Given the description of an element on the screen output the (x, y) to click on. 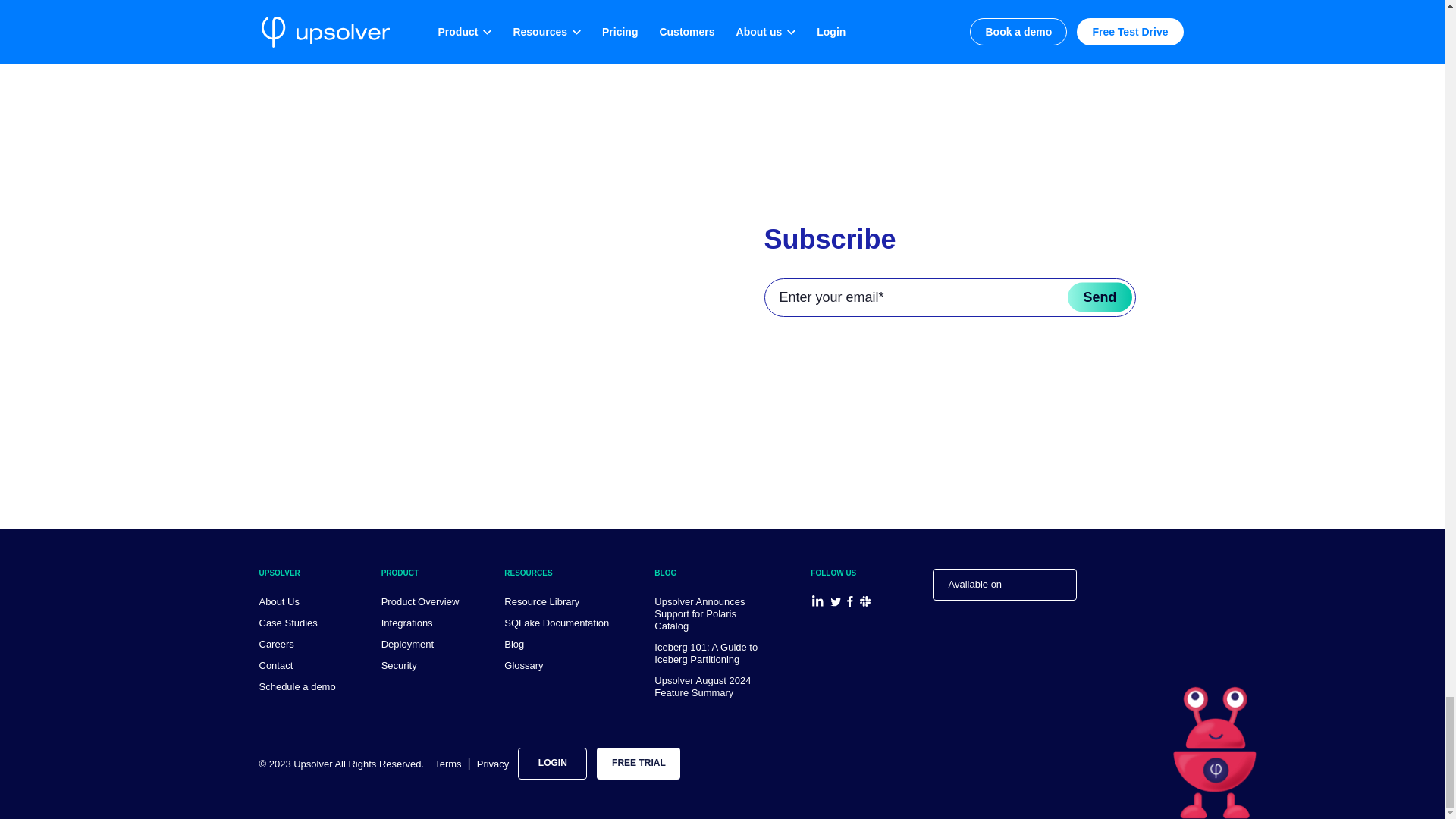
Send (1099, 297)
Upsolver August 2024 Feature Summary (702, 686)
Upsolver Announces Support for Polaris Catalog (698, 613)
Iceberg 101: A Guide to Iceberg Partitioning (705, 653)
